Given the description of an element on the screen output the (x, y) to click on. 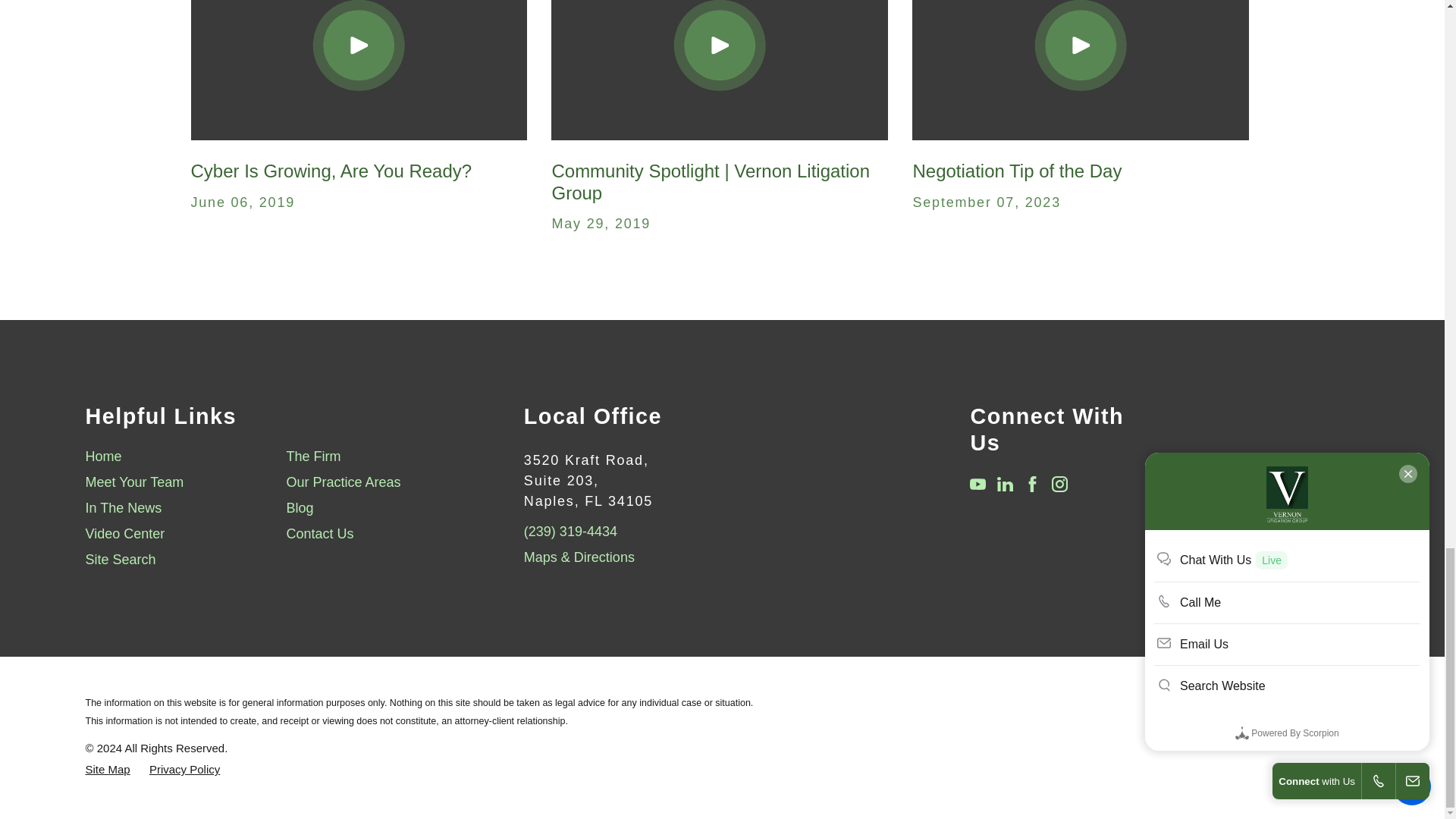
YouTube (977, 483)
Facebook (1033, 483)
LinkedIn (1005, 483)
